Given the description of an element on the screen output the (x, y) to click on. 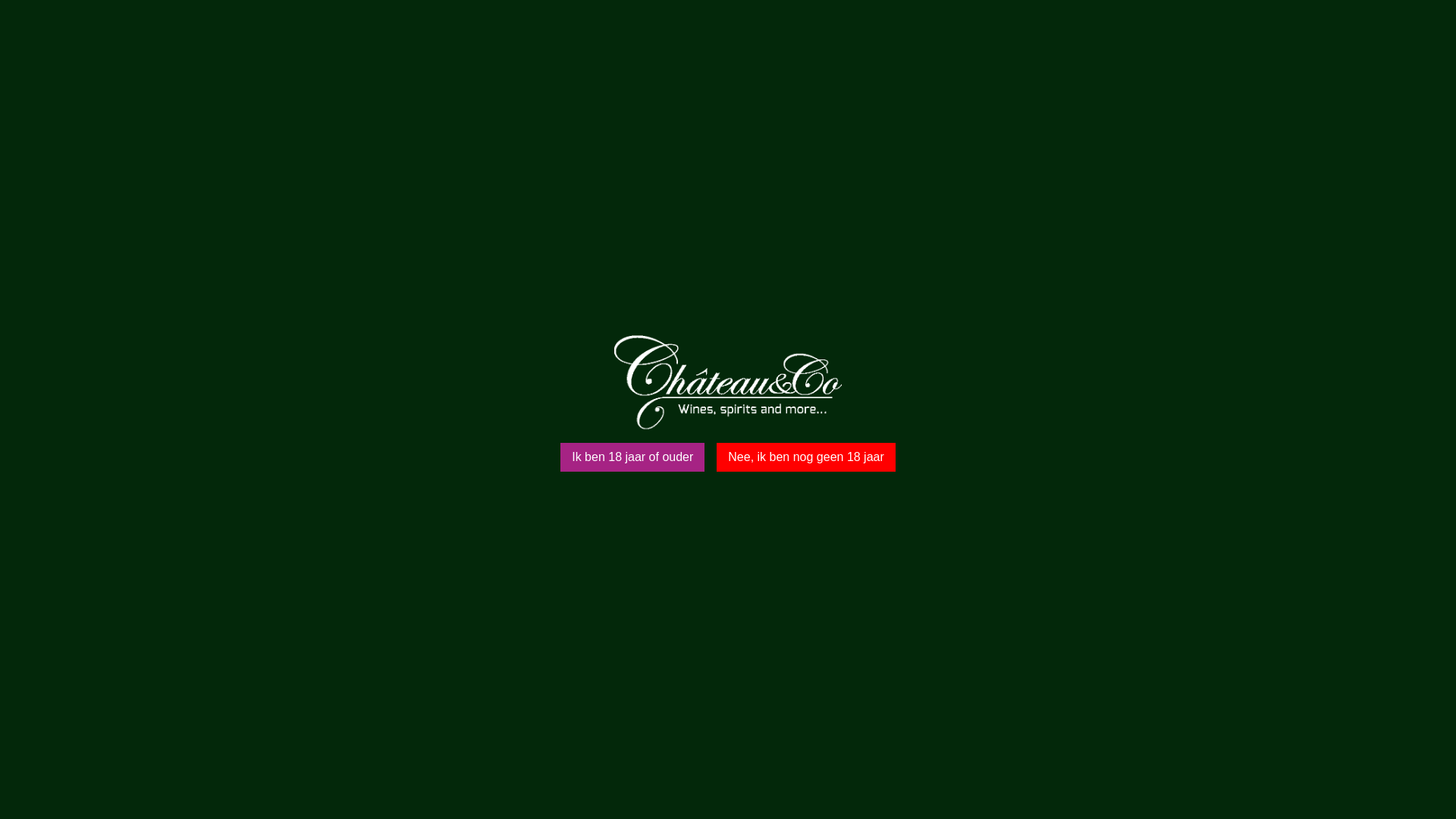
Nee, ik ben nog geen 18 jaar Element type: text (805, 456)
Ik ben 18 jaar of ouder Element type: text (632, 456)
